Given the description of an element on the screen output the (x, y) to click on. 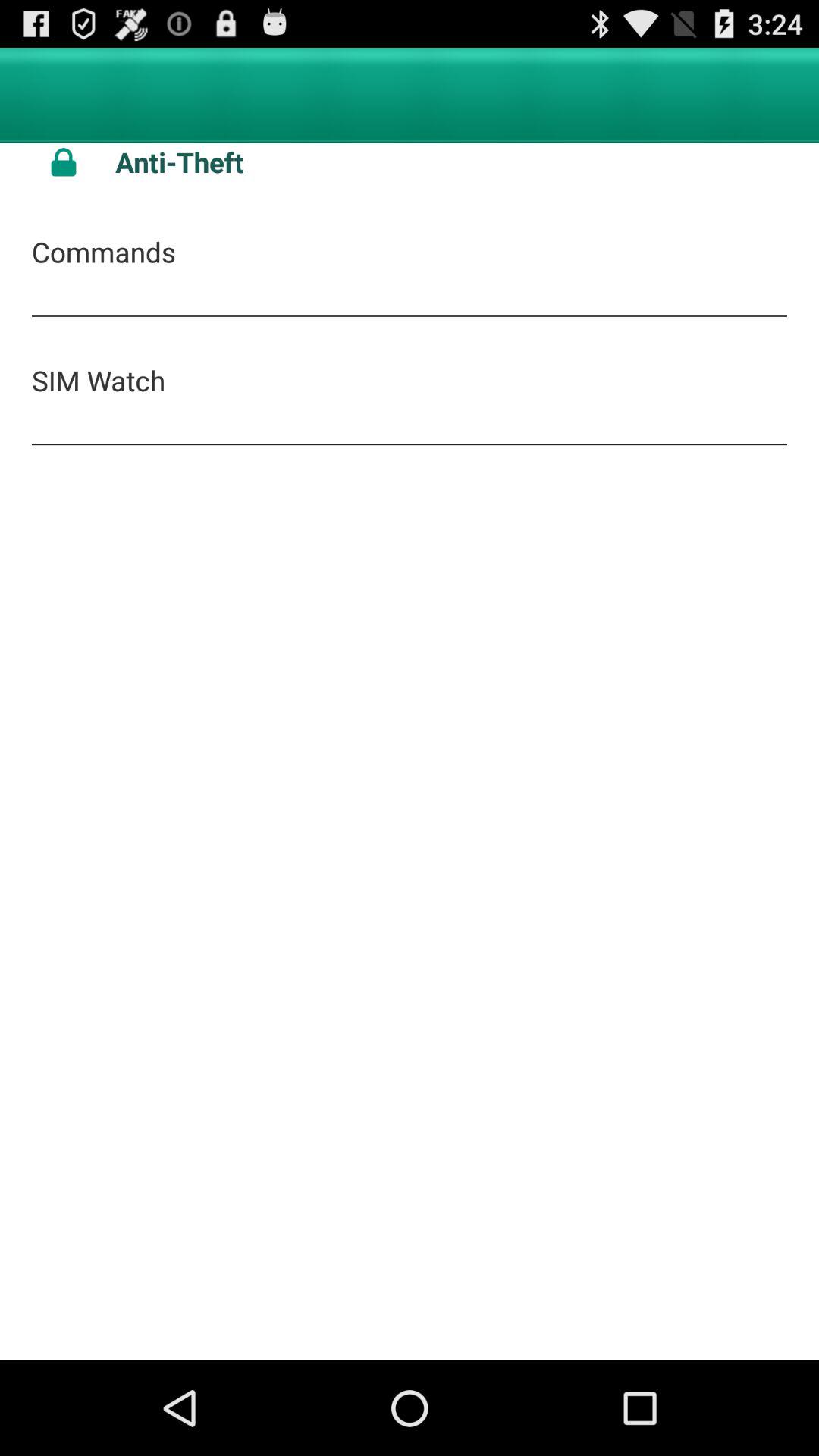
scroll to sim watch app (98, 380)
